Given the description of an element on the screen output the (x, y) to click on. 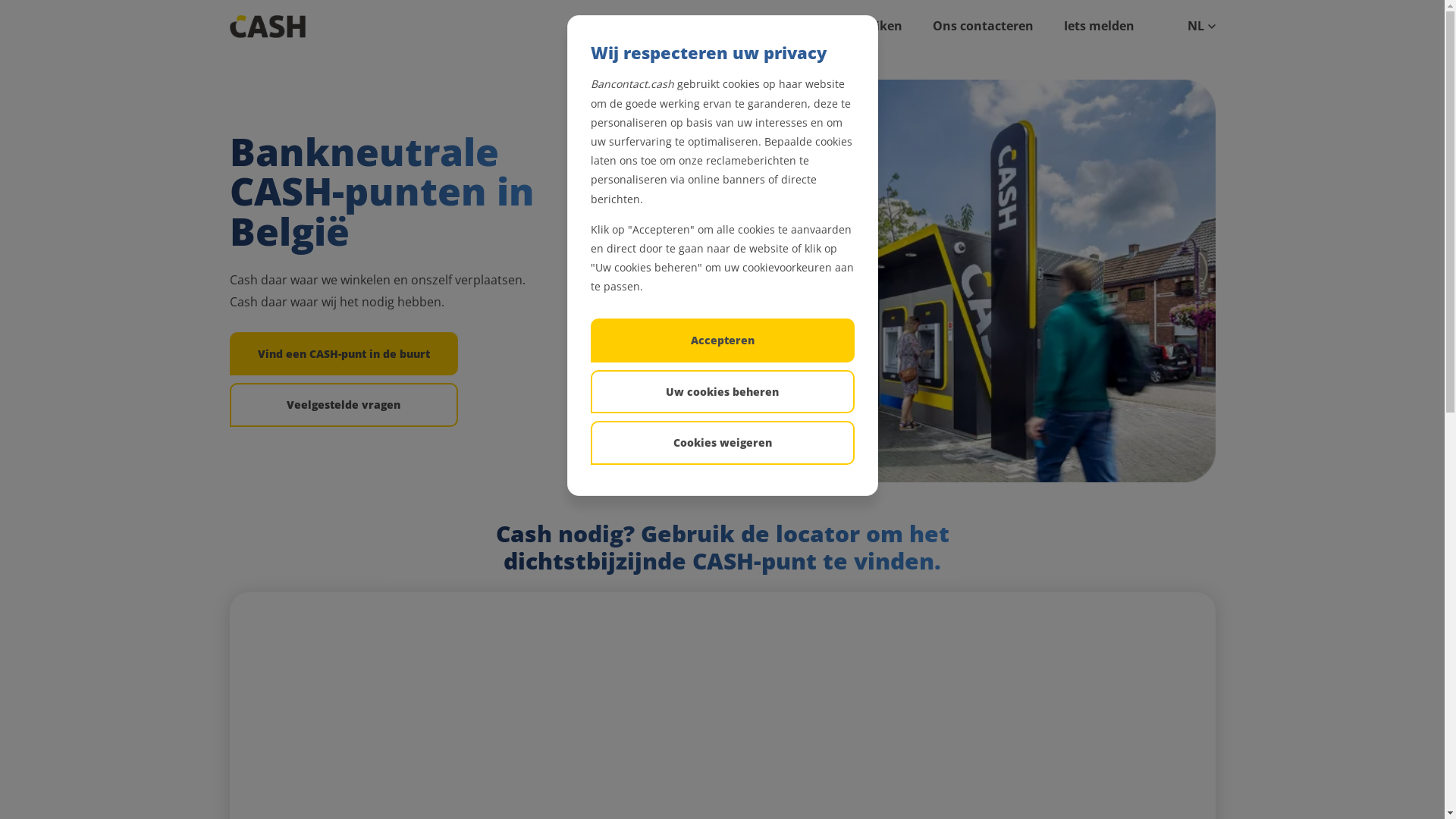
Iets melden Element type: text (1098, 26)
Accepteren Element type: text (721, 339)
Overslaan en naar de inhoud gaan Element type: text (0, 0)
Cookies weigeren Element type: text (721, 442)
CASH-punt gebruiken Element type: text (836, 26)
Veelgestelde vragen Element type: text (343, 404)
Uw cookies beheren Element type: text (721, 391)
NL Element type: text (1195, 26)
Ons contacteren Element type: text (982, 26)
Vind een CASH-punt in de buurt Element type: text (343, 353)
CASH-punt vinden Element type: text (687, 26)
